Given the description of an element on the screen output the (x, y) to click on. 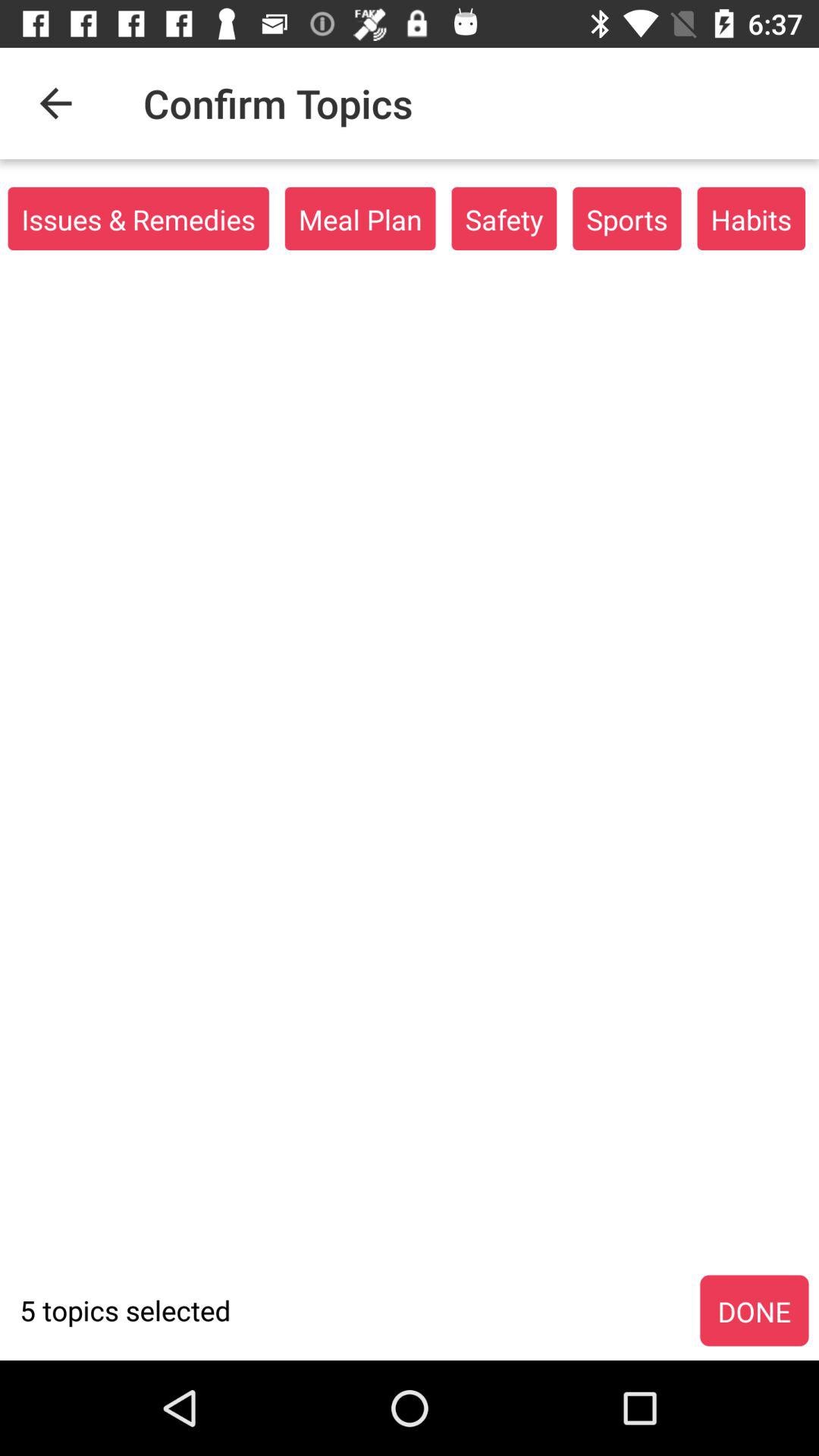
tap the icon above issues & remedies item (55, 103)
